Given the description of an element on the screen output the (x, y) to click on. 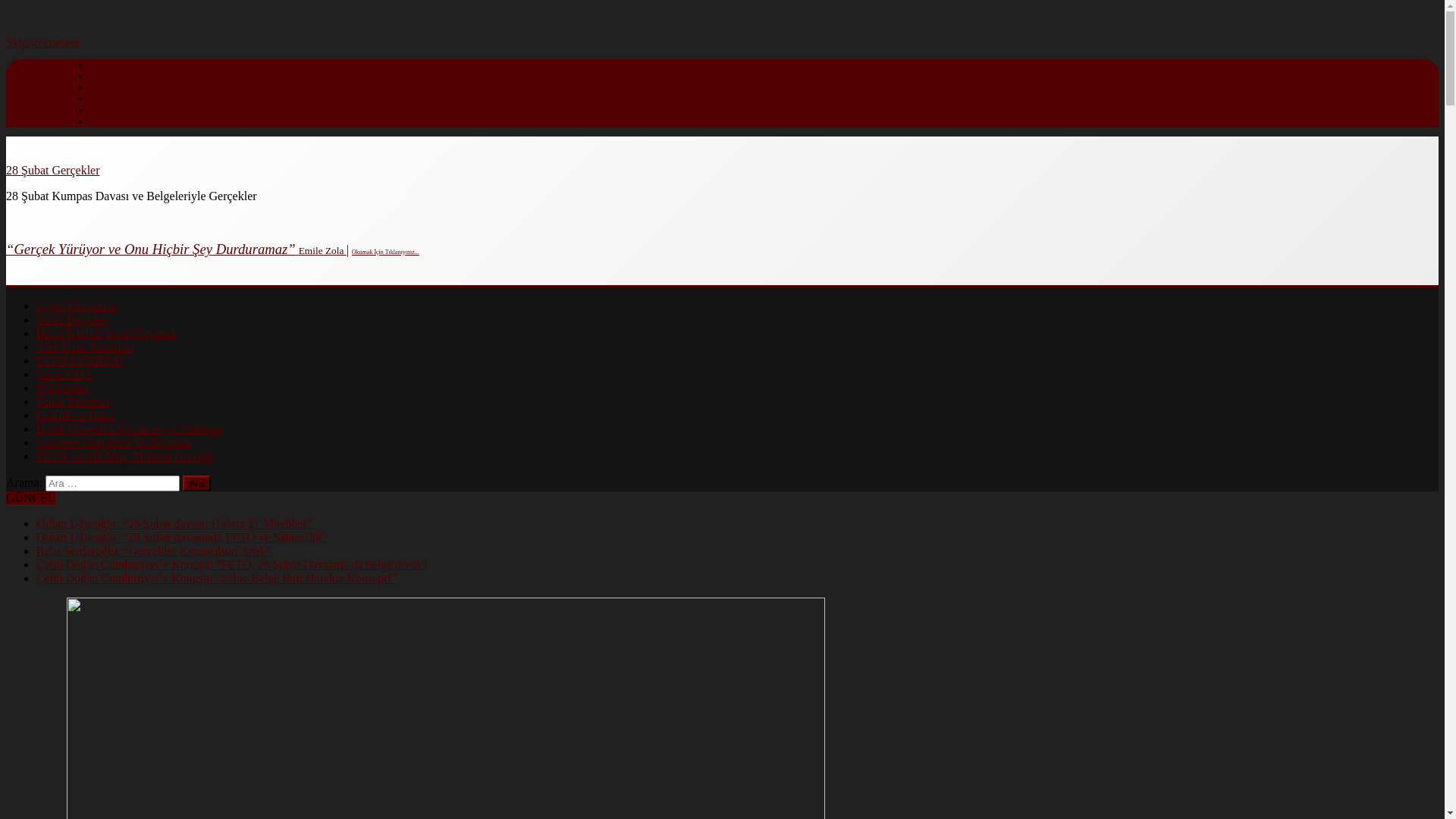
Ara Element type: text (196, 483)
Skip to content Element type: text (42, 42)
Sahte CD 5 Element type: text (64, 373)
Sahte Belgeler Element type: text (71, 319)
